Given the description of an element on the screen output the (x, y) to click on. 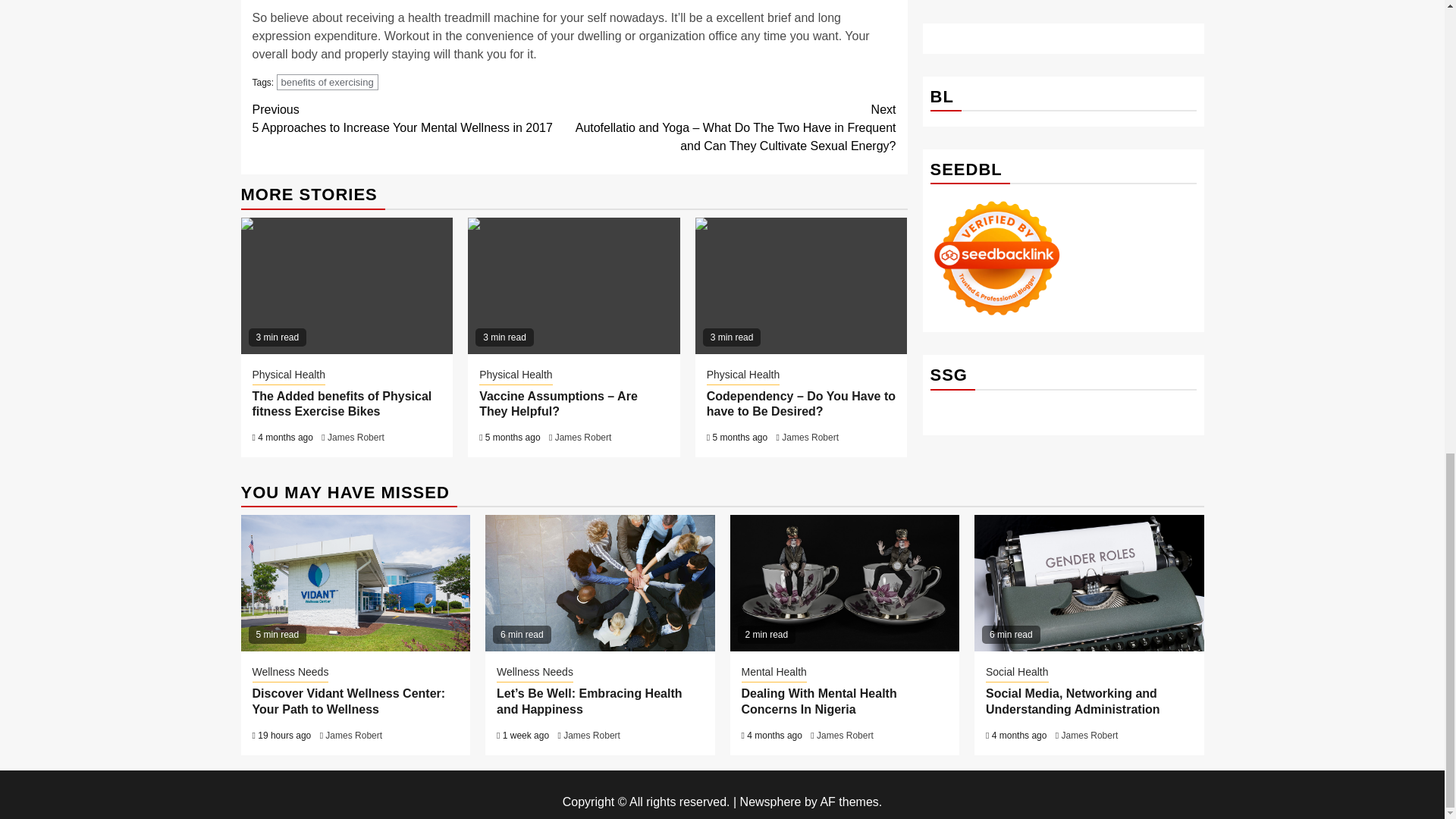
James Robert (355, 437)
Physical Health (743, 375)
Physical Health (516, 375)
benefits of exercising (327, 82)
James Robert (582, 437)
The Added benefits of Physical fitness Exercise Bikes (340, 403)
Dealing With Mental Health Concerns In Nigeria (844, 583)
James Robert (809, 437)
Physical Health (287, 375)
The Added benefits of Physical fitness Exercise Bikes (346, 285)
Social Media, Networking and Understanding Administration (1089, 583)
Discover Vidant Wellness Center: Your Path to Wellness (355, 583)
